Given the description of an element on the screen output the (x, y) to click on. 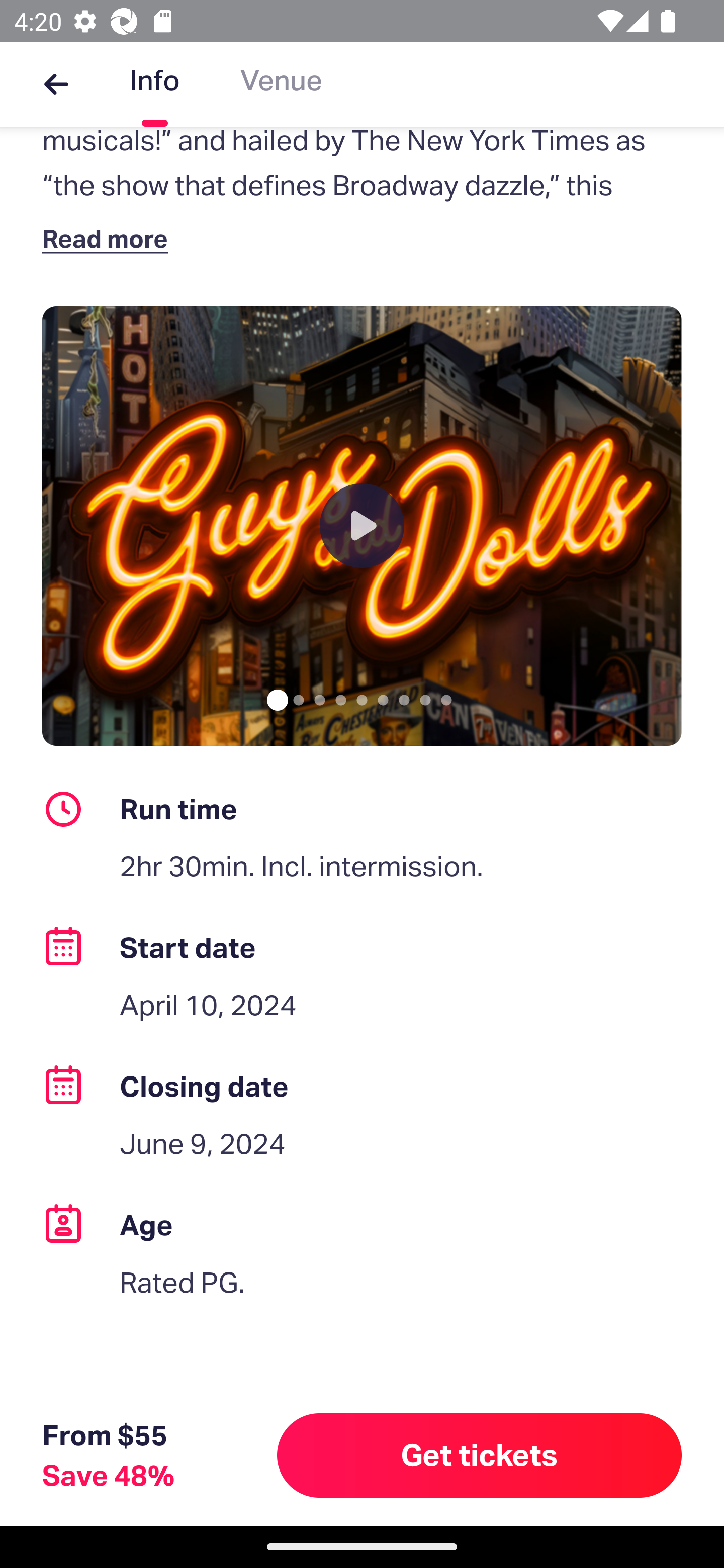
Venue (280, 84)
Read more (109, 238)
Get tickets (479, 1454)
